Given the description of an element on the screen output the (x, y) to click on. 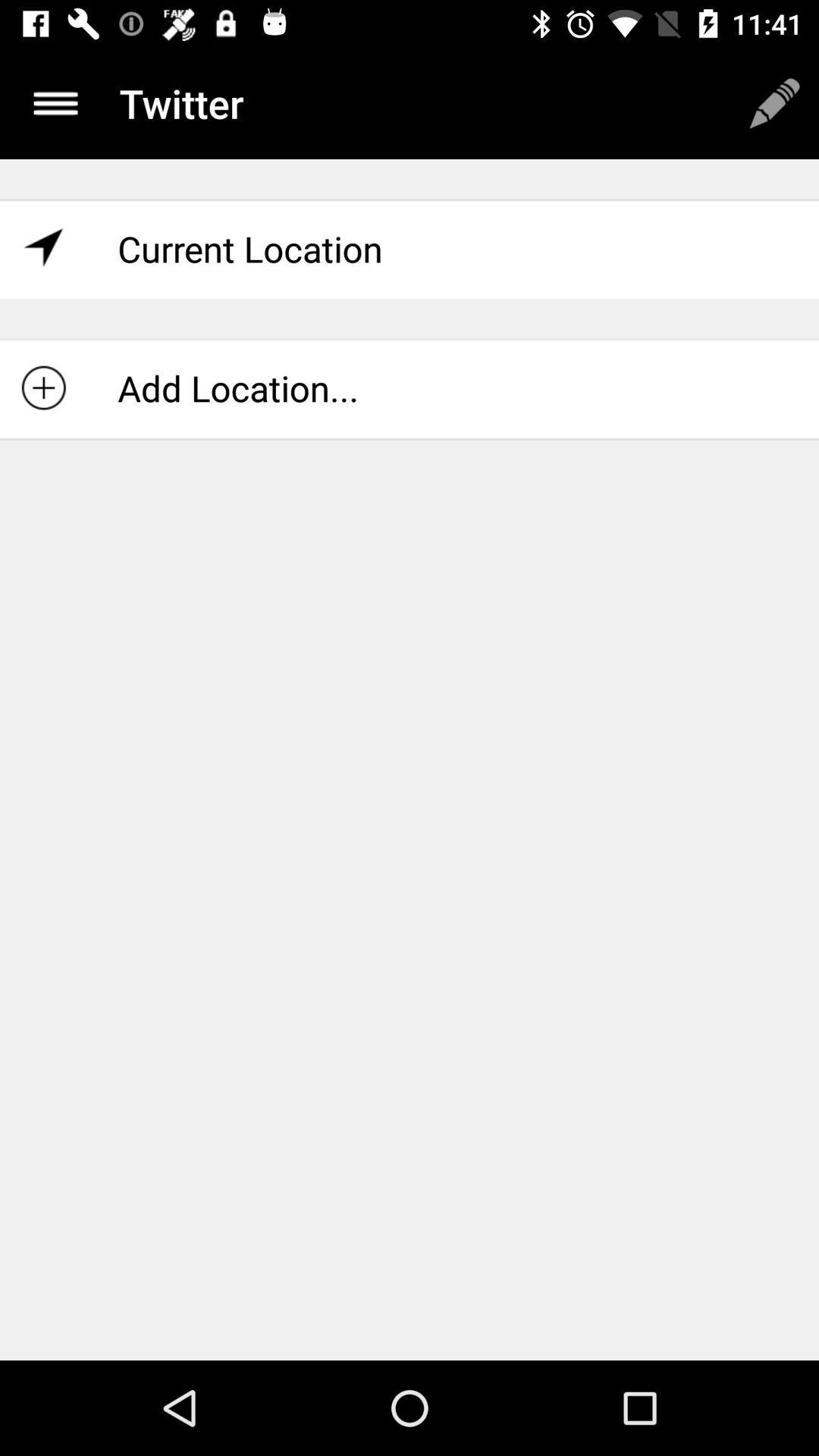
open the add location... item (409, 387)
